Given the description of an element on the screen output the (x, y) to click on. 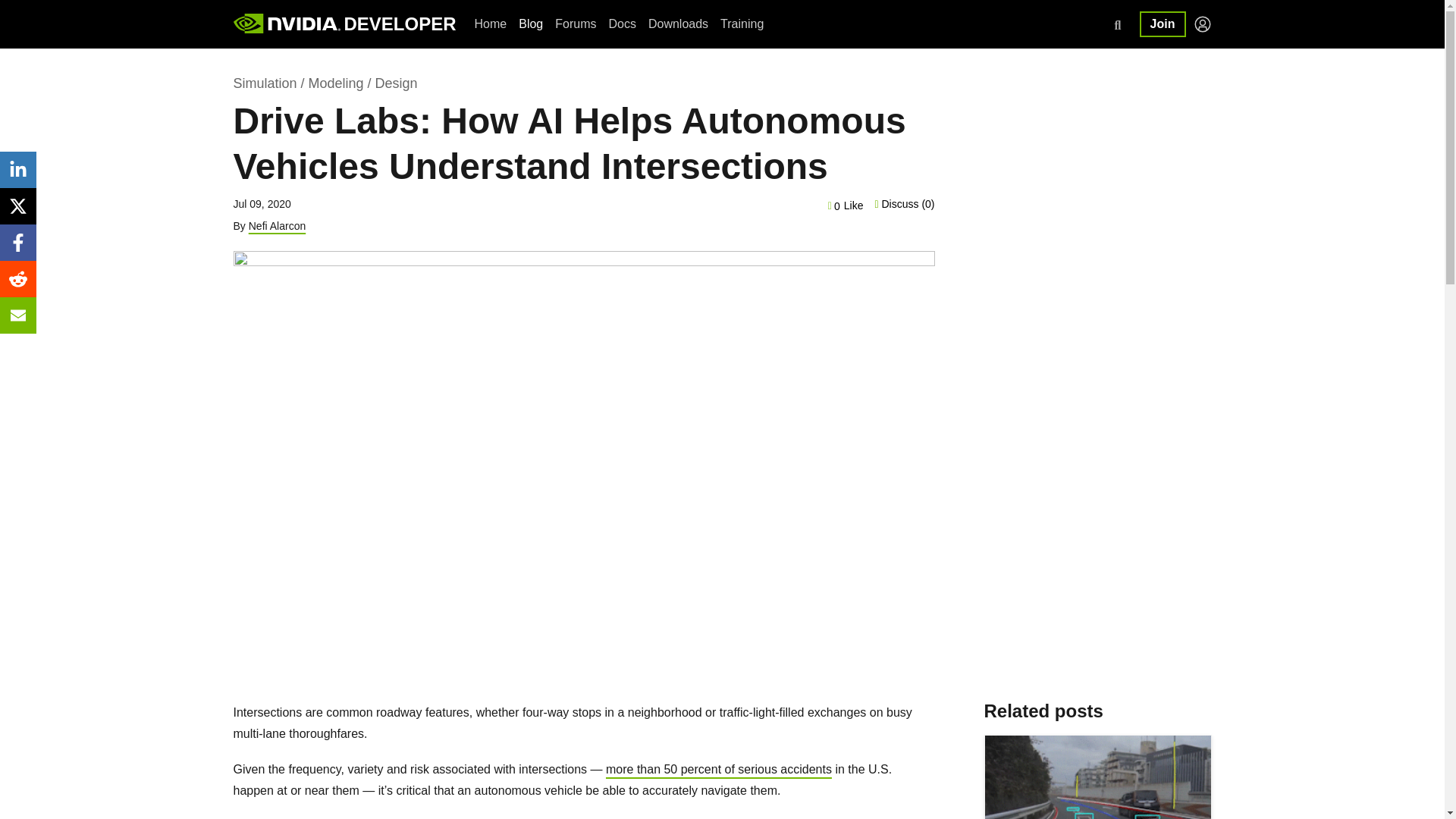
DEVELOPER (398, 24)
Home (398, 24)
Forums (575, 24)
Posts by Nefi Alarcon (276, 225)
more than 50 percent of serious accidents (718, 768)
Home (490, 24)
Downloads (678, 24)
Training (742, 24)
Nefi Alarcon (276, 225)
Search (30, 16)
Home (286, 24)
Downloads (678, 24)
Home (490, 24)
Training (742, 24)
Join (1163, 23)
